Given the description of an element on the screen output the (x, y) to click on. 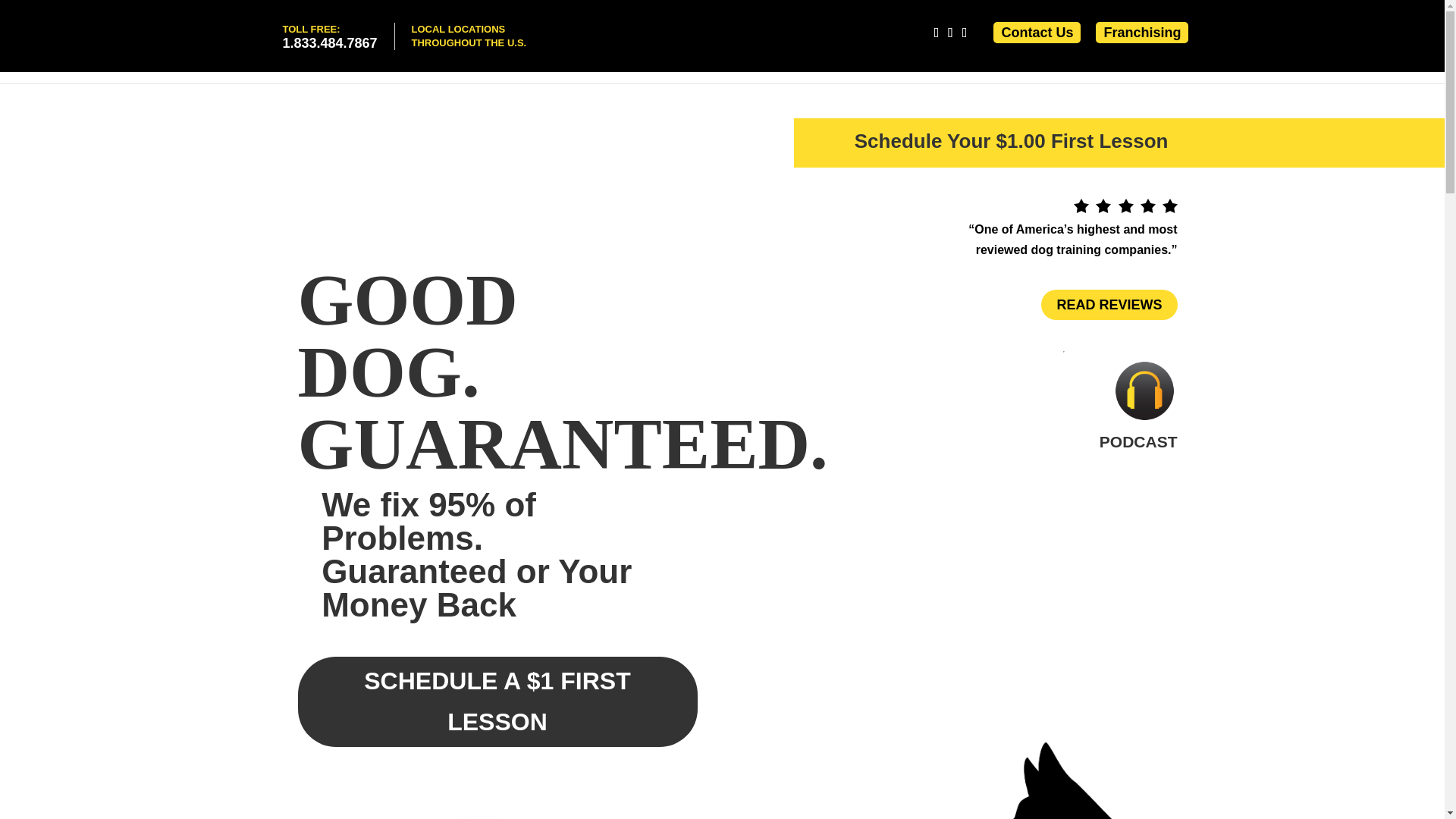
Locations (1001, 65)
PODCAST (1138, 441)
More (329, 36)
About Us (1263, 65)
READ REVIEWS (832, 65)
Group Class Schedules (1108, 305)
Schedule Lesson (1361, 65)
Franchising (915, 65)
Training Services (1142, 31)
